Given the description of an element on the screen output the (x, y) to click on. 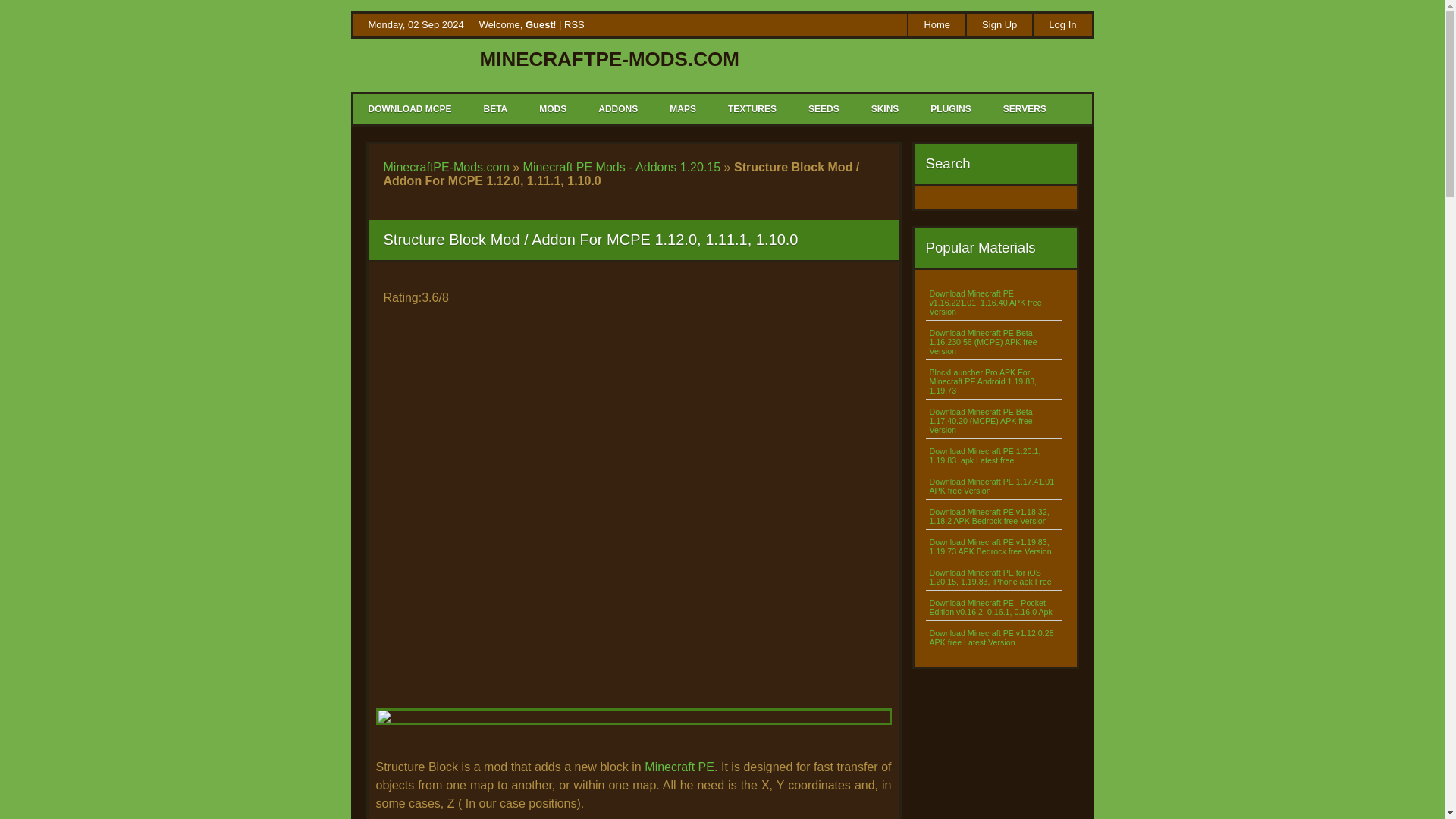
Sign Up (998, 24)
DOWNLOAD MCPE (410, 109)
Click to view in full size... (633, 731)
RSS (822, 25)
Twitter (845, 25)
ADDONS (616, 109)
MODS (551, 109)
MAPS (681, 109)
BETA (494, 109)
Log In (1061, 24)
